Given the description of an element on the screen output the (x, y) to click on. 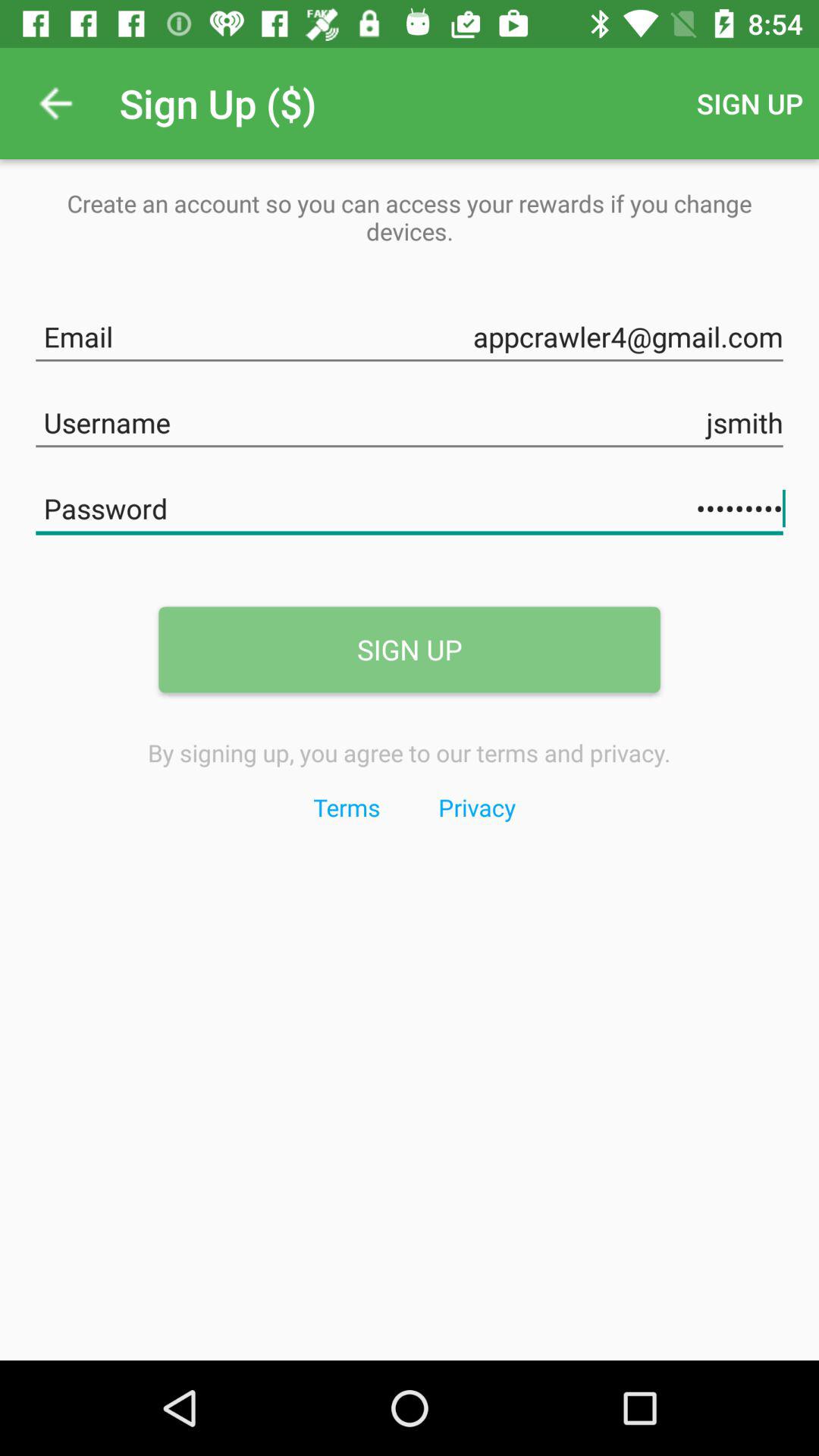
choose the item next to the sign up ($) item (55, 103)
